Given the description of an element on the screen output the (x, y) to click on. 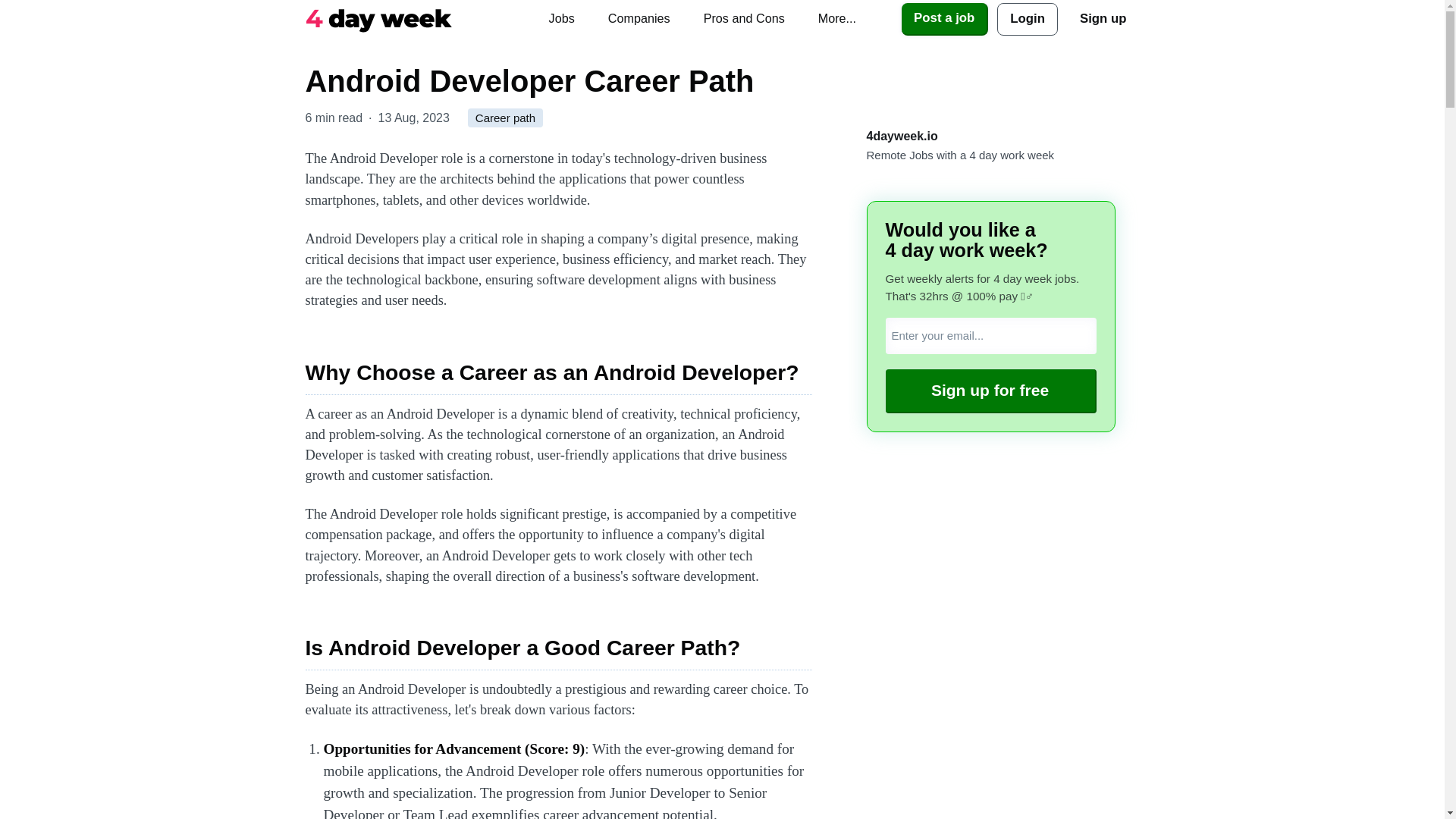
Companies (638, 18)
Pros and Cons (743, 18)
More... (836, 18)
Jobs (561, 18)
